Given the description of an element on the screen output the (x, y) to click on. 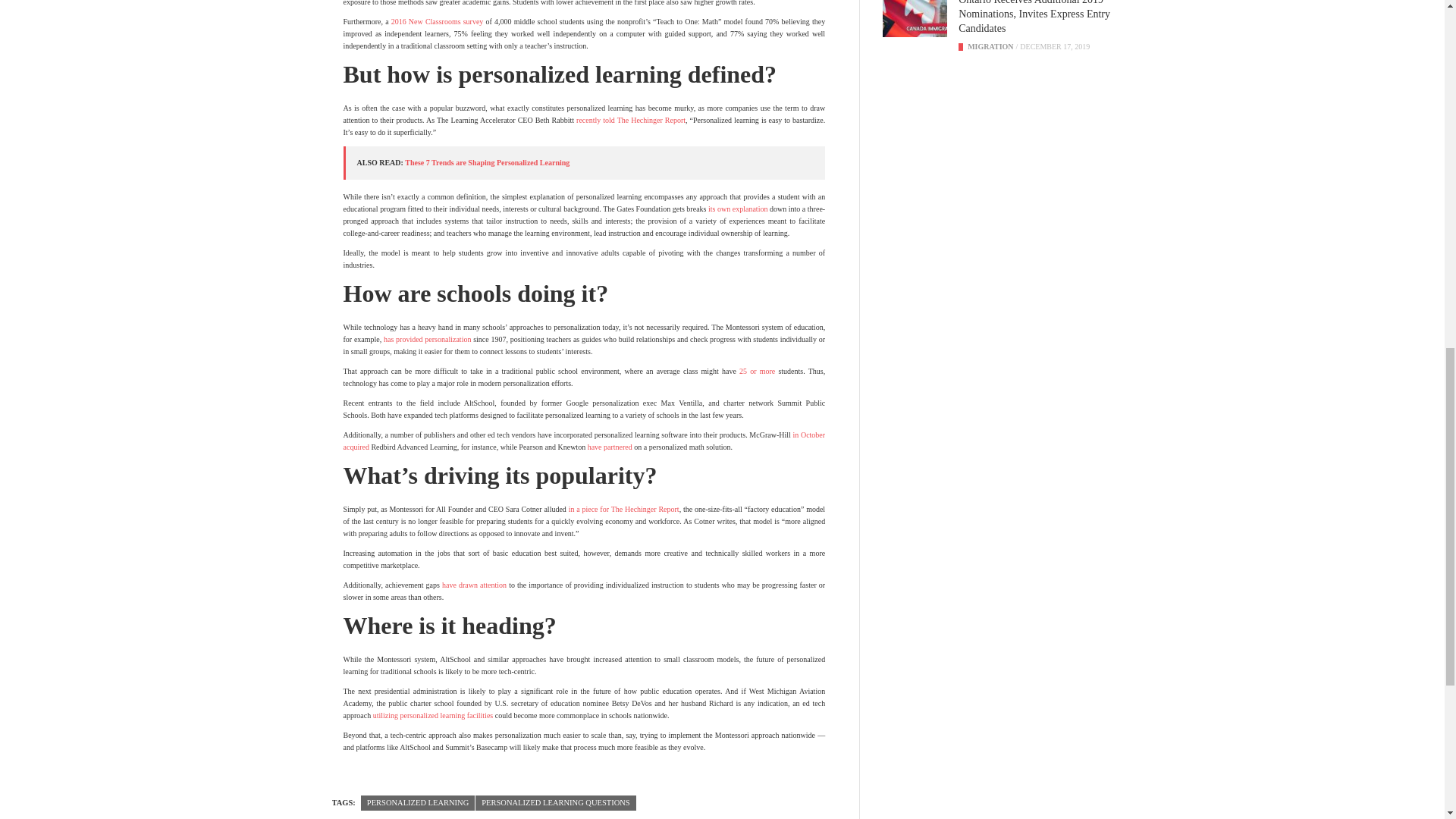
Personalized learning Questions (555, 803)
Personalized Learning (417, 803)
